Given the description of an element on the screen output the (x, y) to click on. 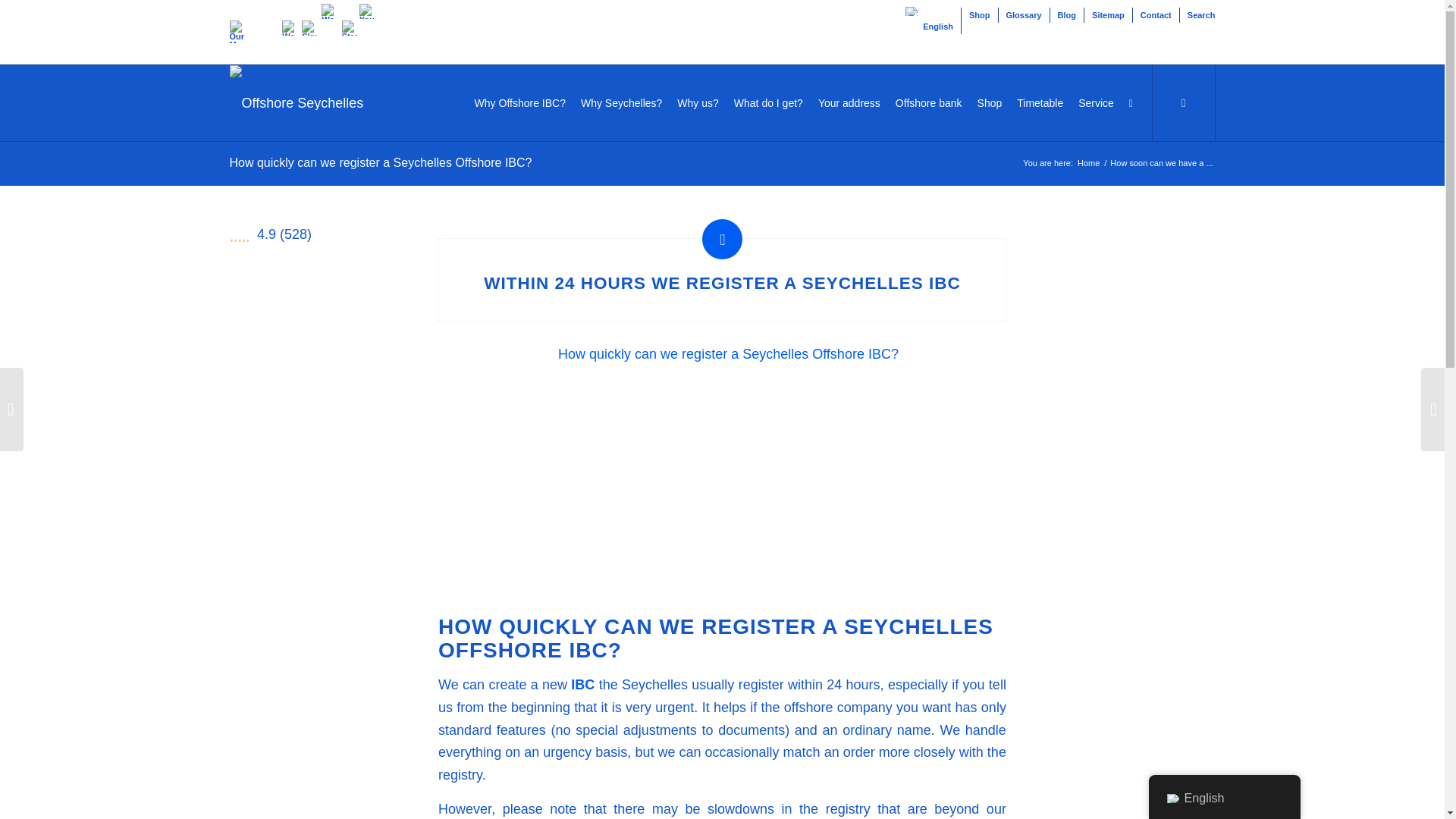
Shop (979, 14)
Our Menu Sitemap (239, 31)
Offshore bank (928, 102)
Contact (1156, 14)
English (927, 26)
Why Offshore IBC? (520, 102)
Glossary (1023, 14)
What do I get? (768, 102)
Blog (1066, 14)
Sitemap (1108, 14)
Search (1201, 14)
Your address (849, 102)
English (911, 10)
Why Seychelles? (621, 102)
